Given the description of an element on the screen output the (x, y) to click on. 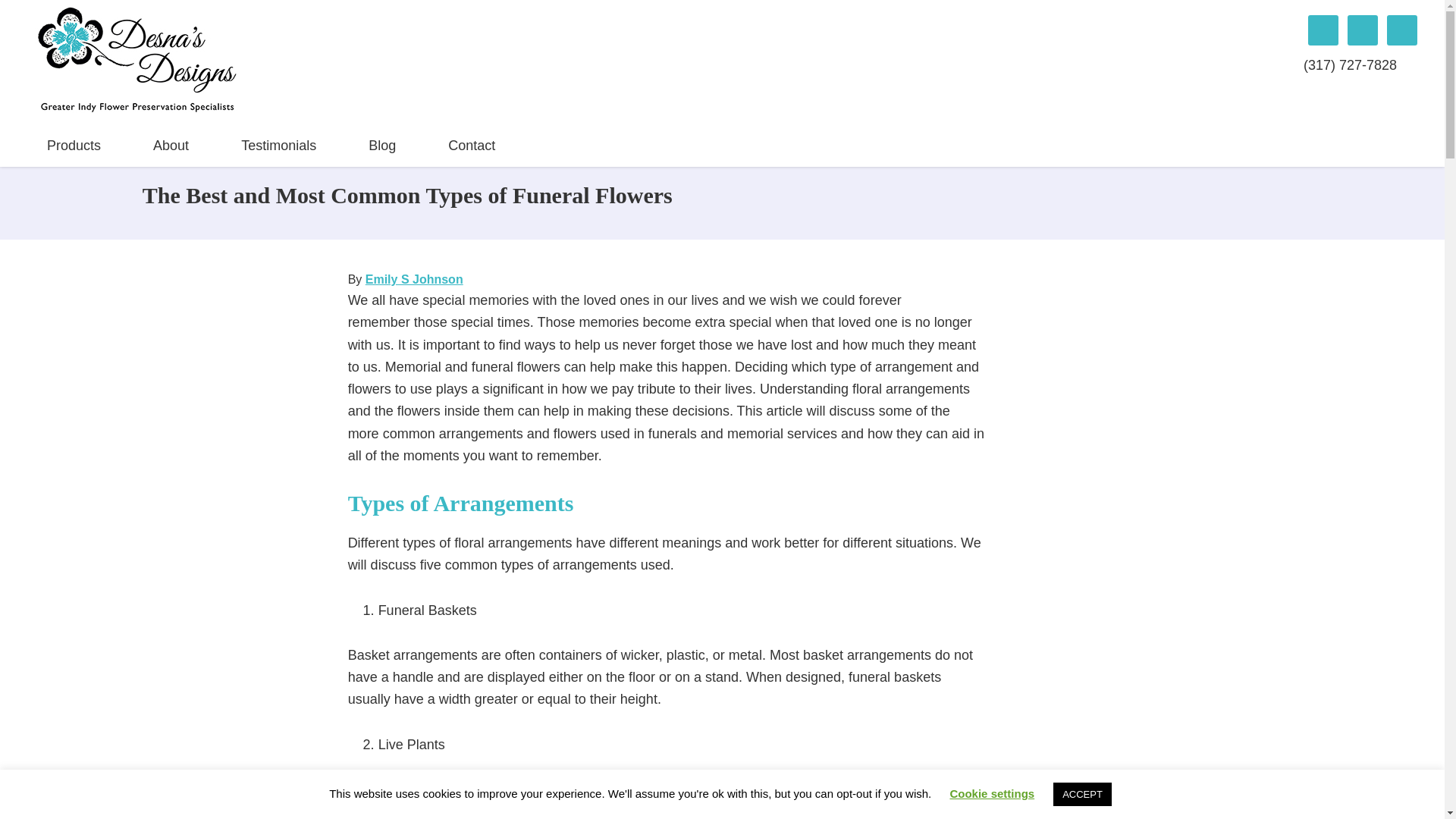
Testimonials (278, 145)
Contact (471, 145)
Blog (381, 145)
About (170, 145)
ACCEPT (1082, 793)
Emily S Johnson (414, 278)
Products (73, 145)
Cookie settings (991, 793)
